Given the description of an element on the screen output the (x, y) to click on. 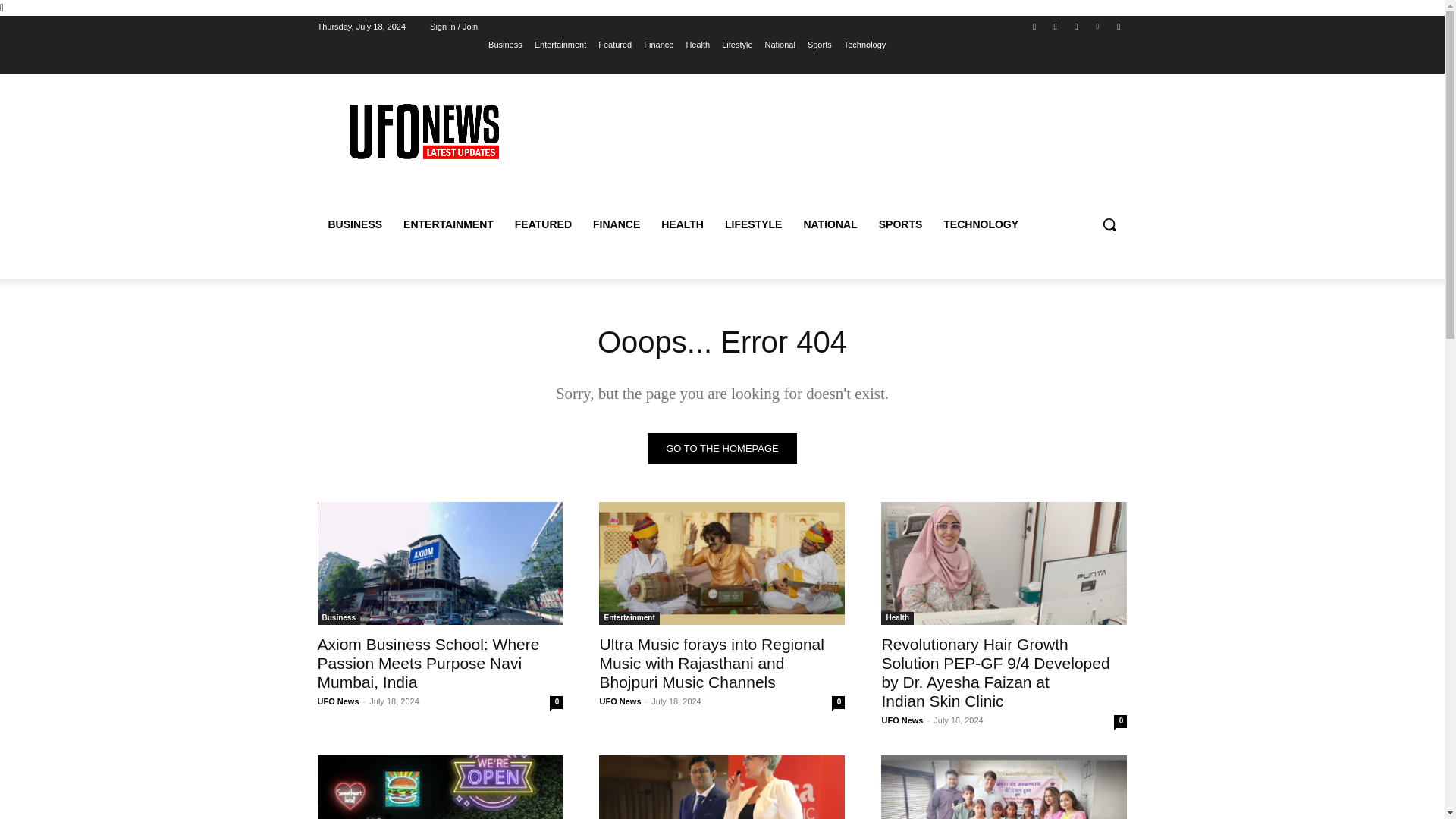
HEALTH (682, 224)
FEATURED (542, 224)
Facebook (1034, 27)
Entertainment (560, 44)
NATIONAL (829, 224)
ENTERTAINMENT (448, 224)
Instagram (1055, 27)
National (779, 44)
Finance (657, 44)
BUSINESS (355, 224)
Youtube (1117, 27)
SPORTS (900, 224)
Vimeo (1097, 27)
